Given the description of an element on the screen output the (x, y) to click on. 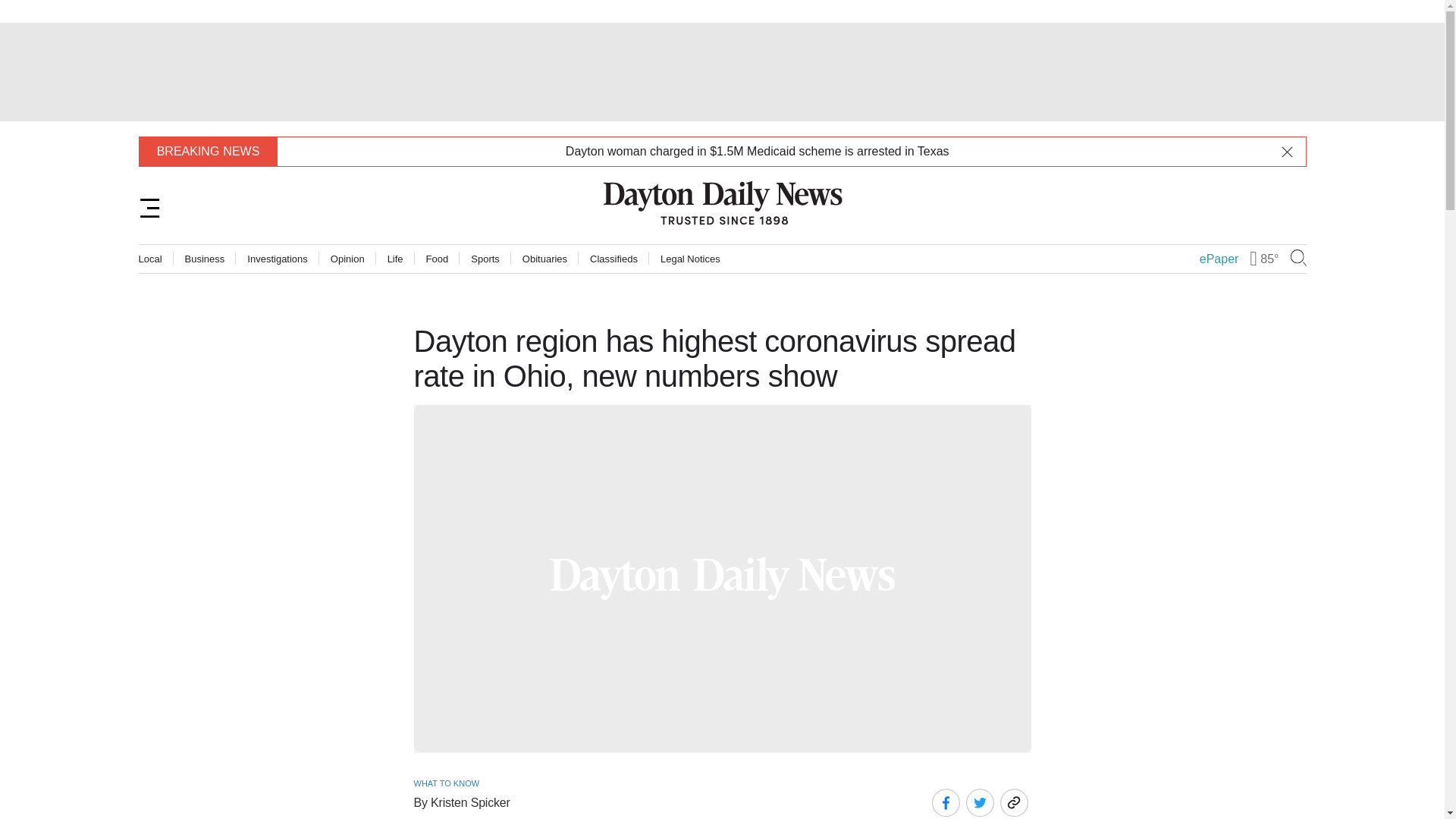
Obituaries (544, 258)
Classifieds (613, 258)
Local (149, 258)
Food (437, 258)
ePaper (1219, 259)
Opinion (347, 258)
Investigations (277, 258)
Business (204, 258)
Legal Notices (690, 258)
Sports (484, 258)
